Given the description of an element on the screen output the (x, y) to click on. 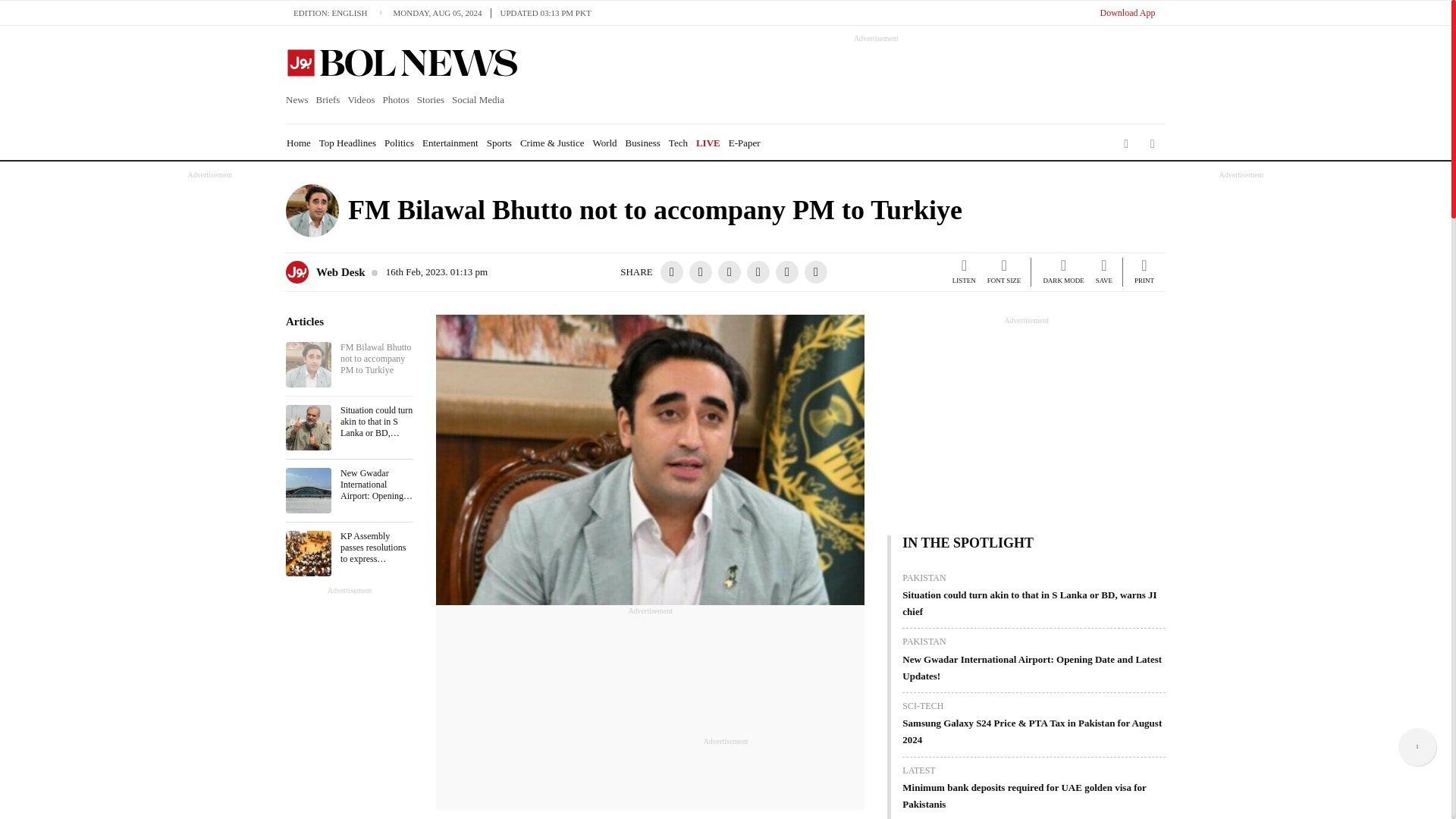
News (299, 99)
UPDATED 03:13 PM PKT (545, 12)
Social Media (478, 99)
Top Headlines (346, 143)
Entertainment (450, 143)
Business (643, 143)
Stories (430, 99)
Videos (360, 99)
MONDAY, AUG 05, 2024 (441, 12)
Download App (1127, 12)
Briefs (328, 99)
Photos (395, 99)
